Given the description of an element on the screen output the (x, y) to click on. 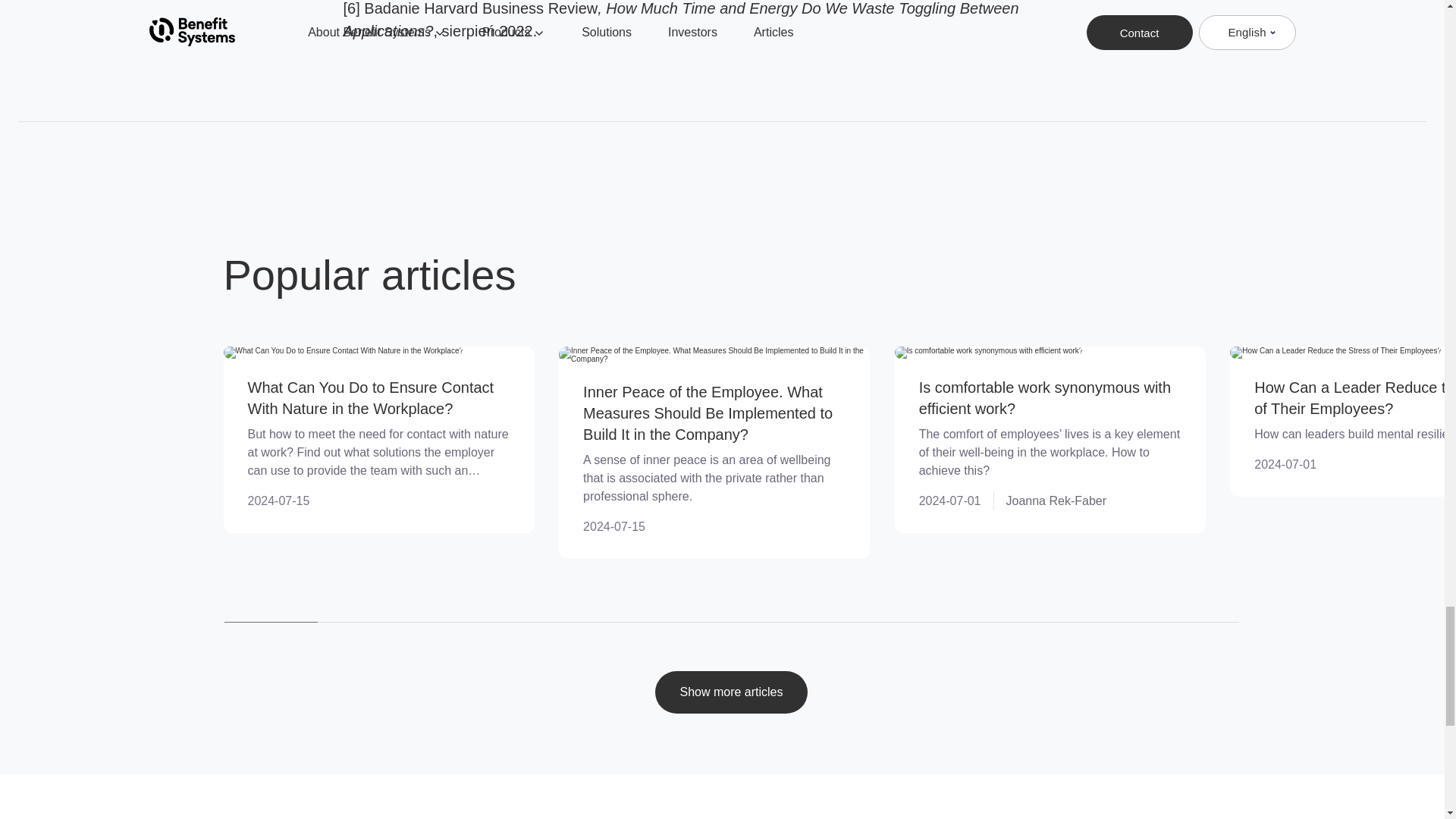
How Can a Leader Reduce the Stress of Their Employees? (1354, 397)
Is comfortable work synonymous with efficient work? (1044, 397)
